Given the description of an element on the screen output the (x, y) to click on. 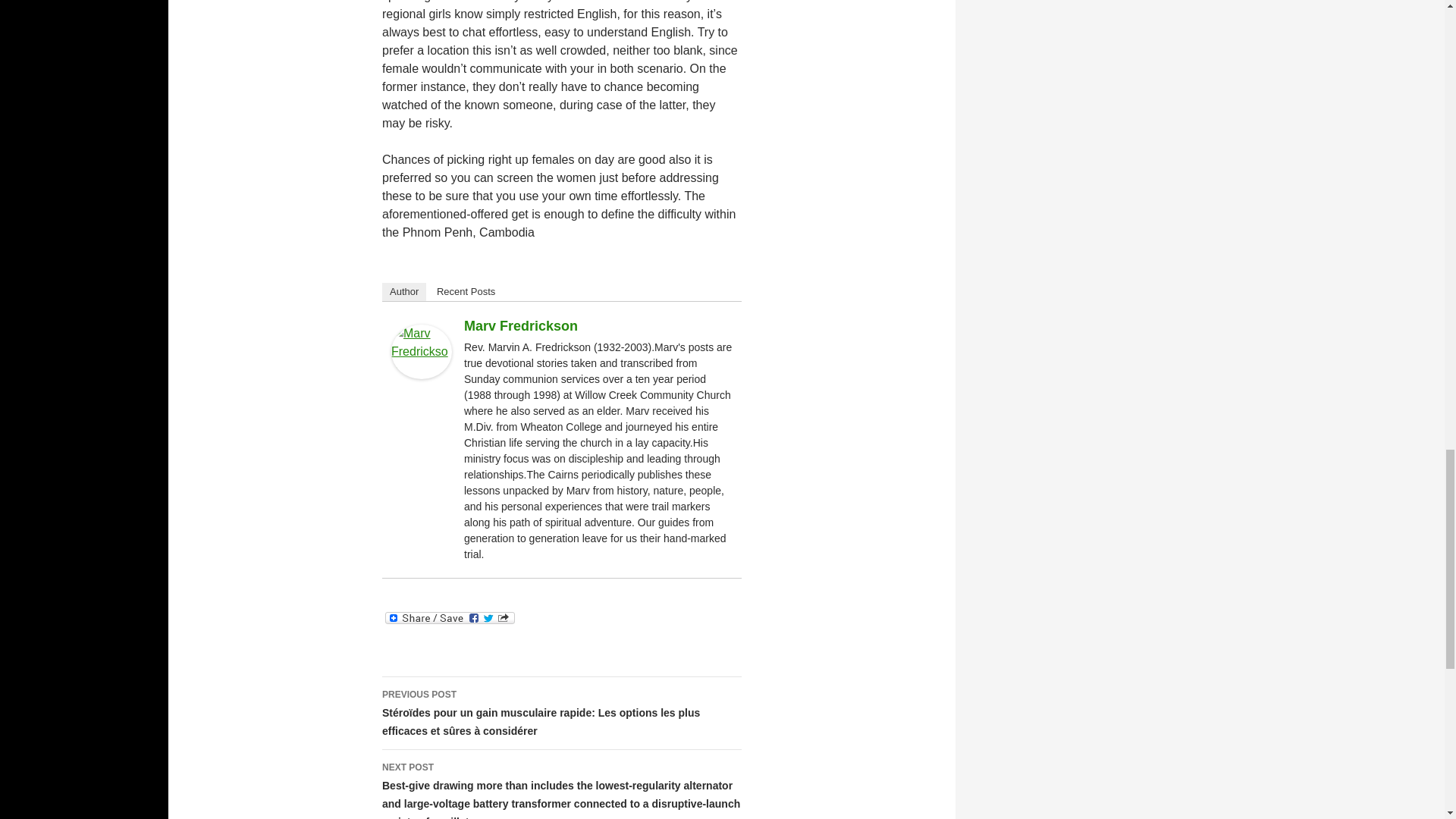
Marv Fredrickson (521, 325)
Recent Posts (465, 291)
Author (403, 291)
Marv Fredrickson (421, 350)
Subscribe me! (1180, 291)
